Given the description of an element on the screen output the (x, y) to click on. 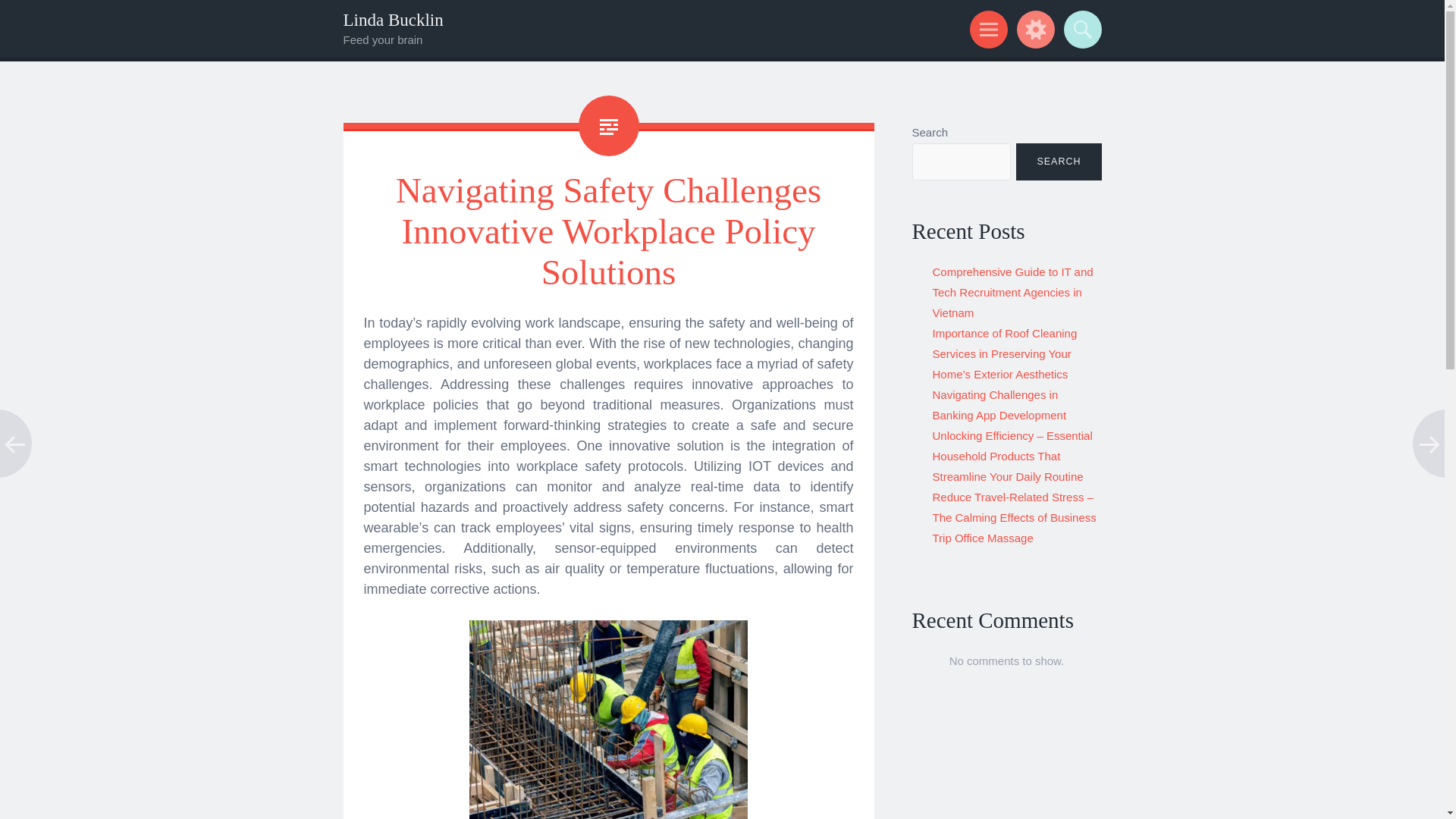
Menu (985, 29)
Widgets (1032, 29)
Linda Bucklin (392, 19)
Search (1080, 29)
